Given the description of an element on the screen output the (x, y) to click on. 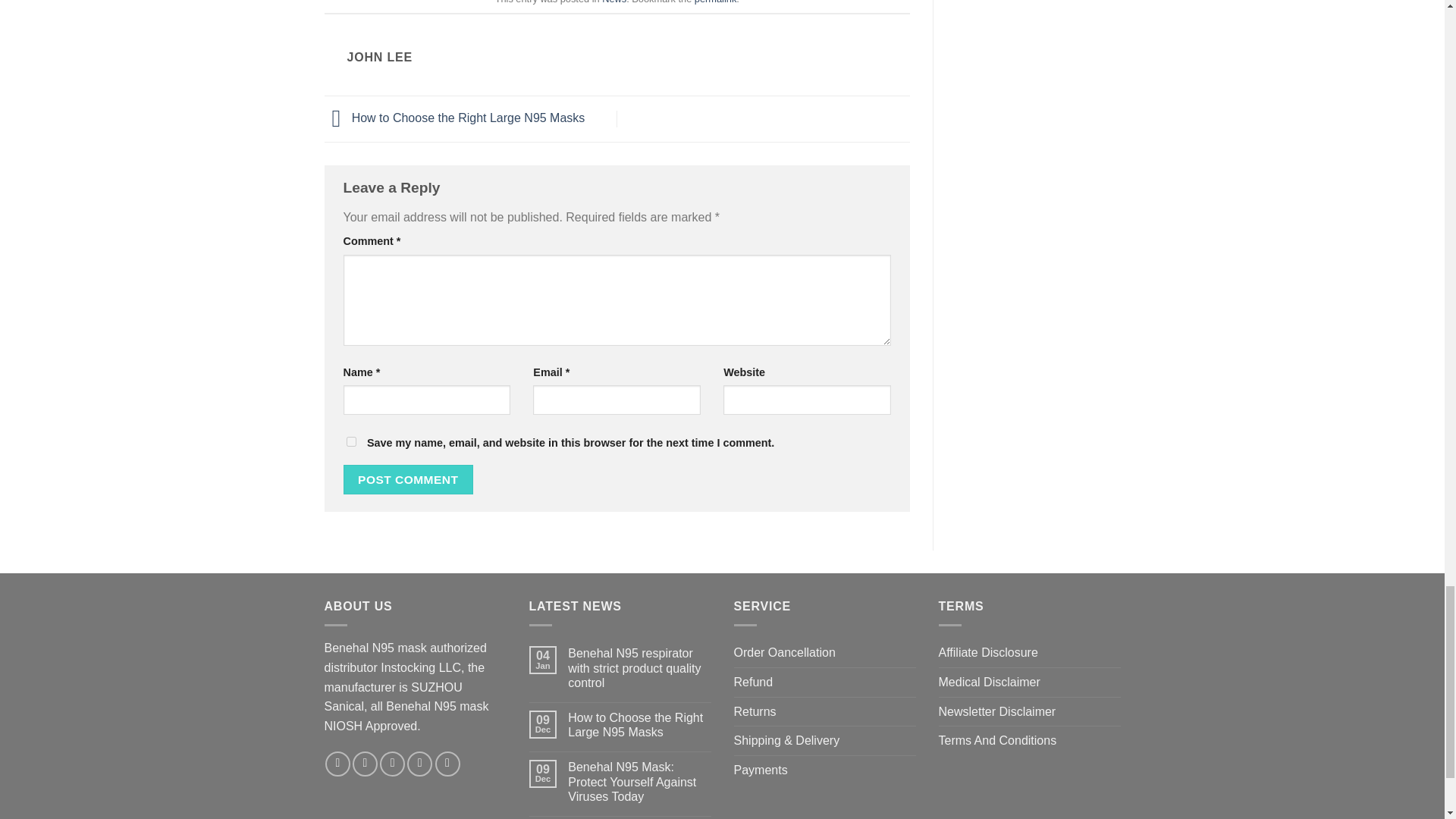
yes (350, 441)
Post Comment (407, 479)
